Given the description of an element on the screen output the (x, y) to click on. 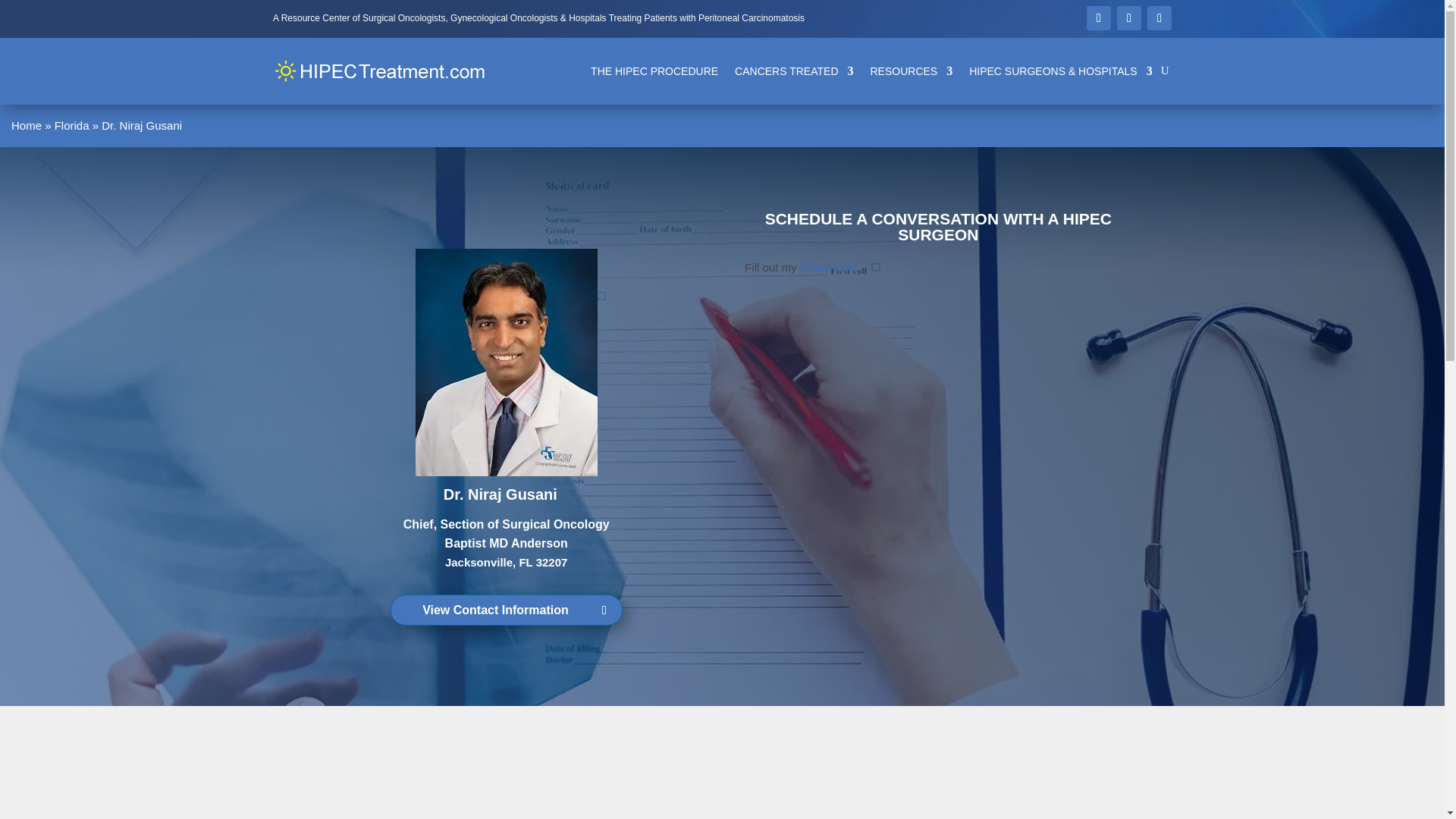
THE HIPEC PROCEDURE (654, 70)
Follow on LinkedIn (1159, 17)
Follow on Facebook (1098, 17)
CANCERS TREATED (794, 70)
Follow on Youtube (1128, 17)
RESOURCES (911, 70)
